Given the description of an element on the screen output the (x, y) to click on. 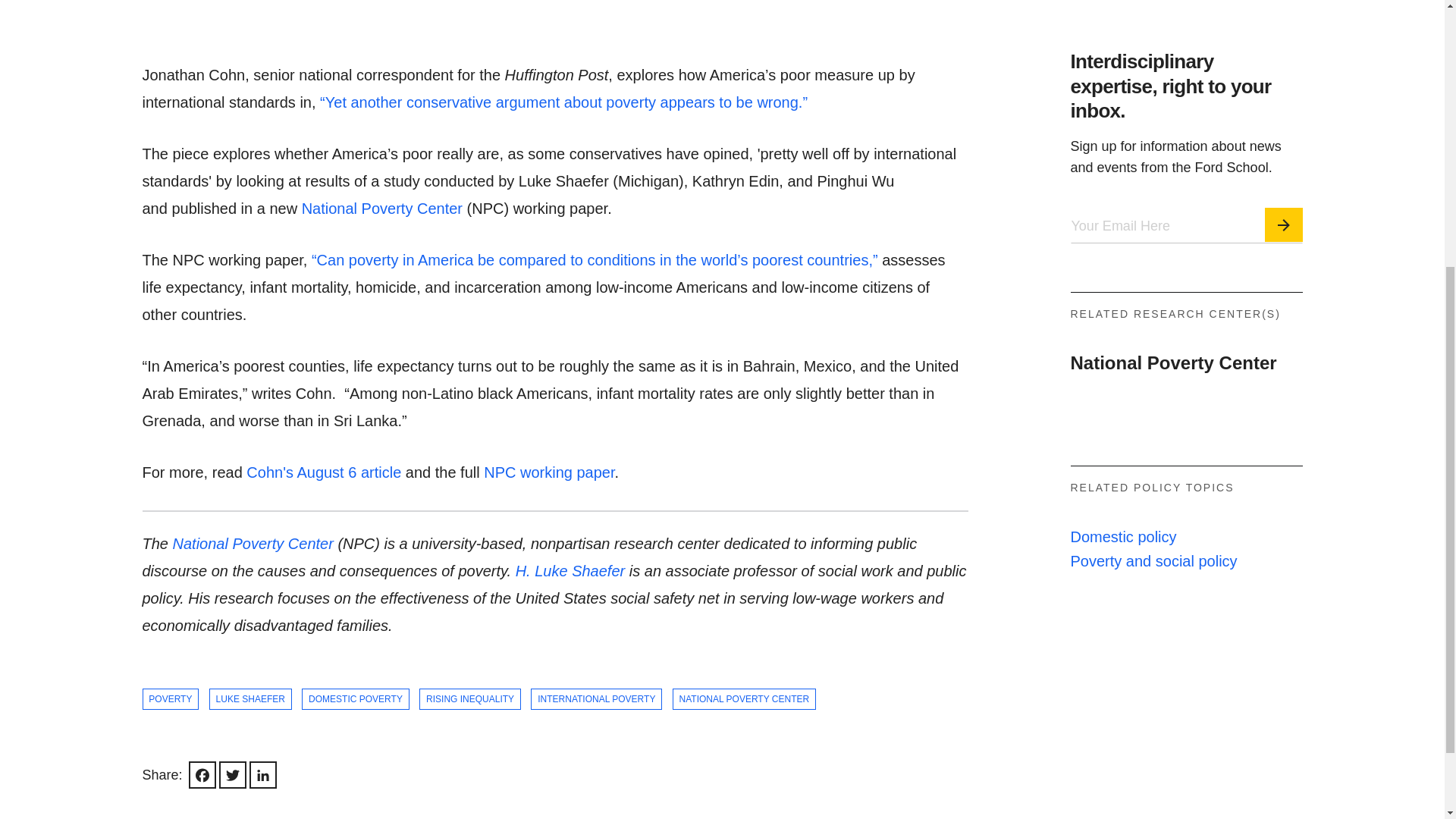
LinkedIn (262, 789)
DOMESTIC POVERTY (355, 739)
INTERNATIONAL POVERTY (596, 731)
Cohn's August 6 article (323, 472)
NATIONAL POVERTY CENTER (743, 725)
National Poverty Center (1173, 403)
Twitter (232, 793)
H. Luke Shaefer (571, 614)
Poverty and social policy (1153, 596)
National Poverty Center (253, 588)
RISING INEQUALITY (470, 735)
POVERTY (170, 742)
Subscribe (1284, 267)
Subscribe (1284, 231)
NPC working paper (548, 517)
